Given the description of an element on the screen output the (x, y) to click on. 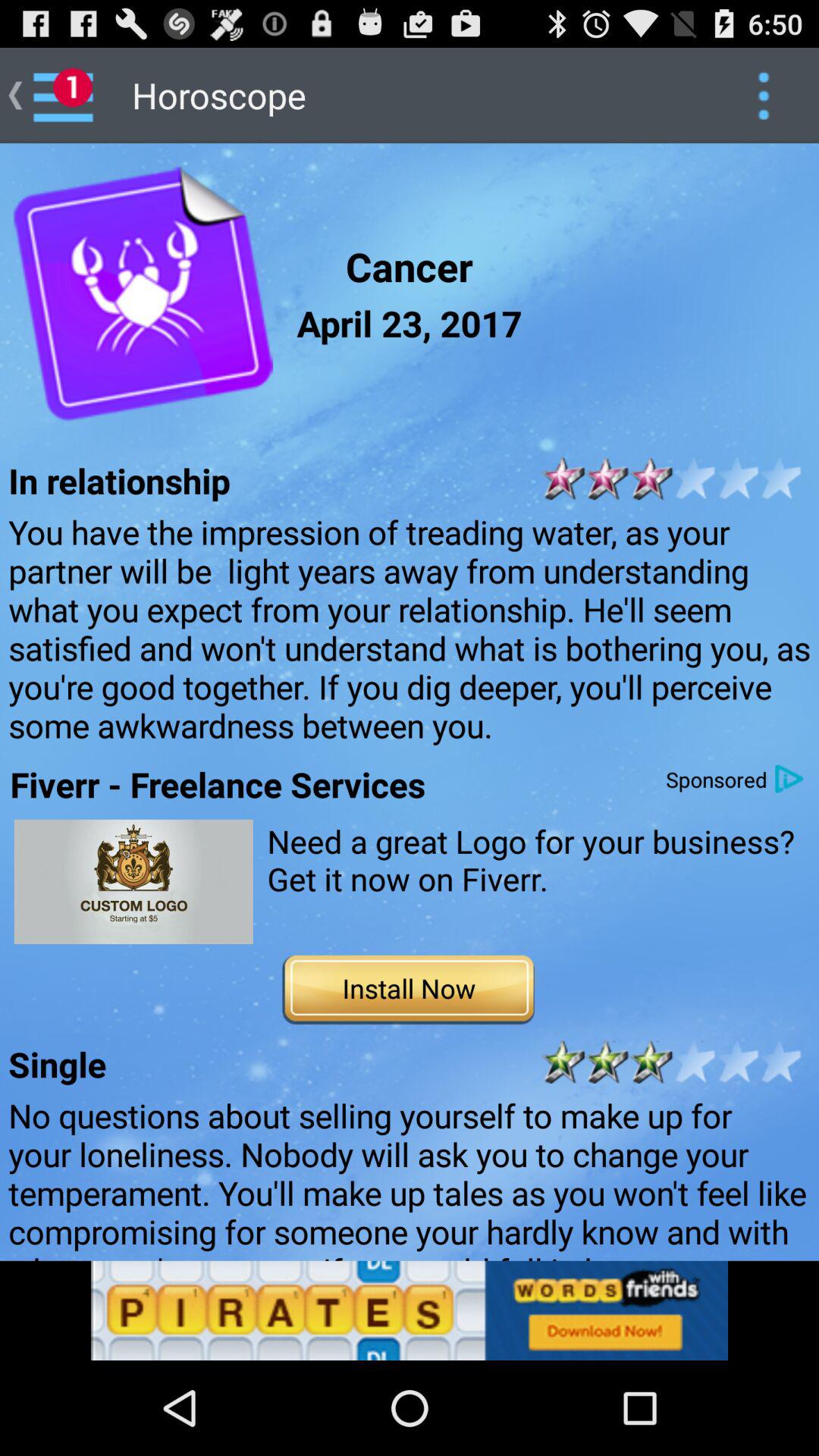
go to logo opption (133, 881)
